Given the description of an element on the screen output the (x, y) to click on. 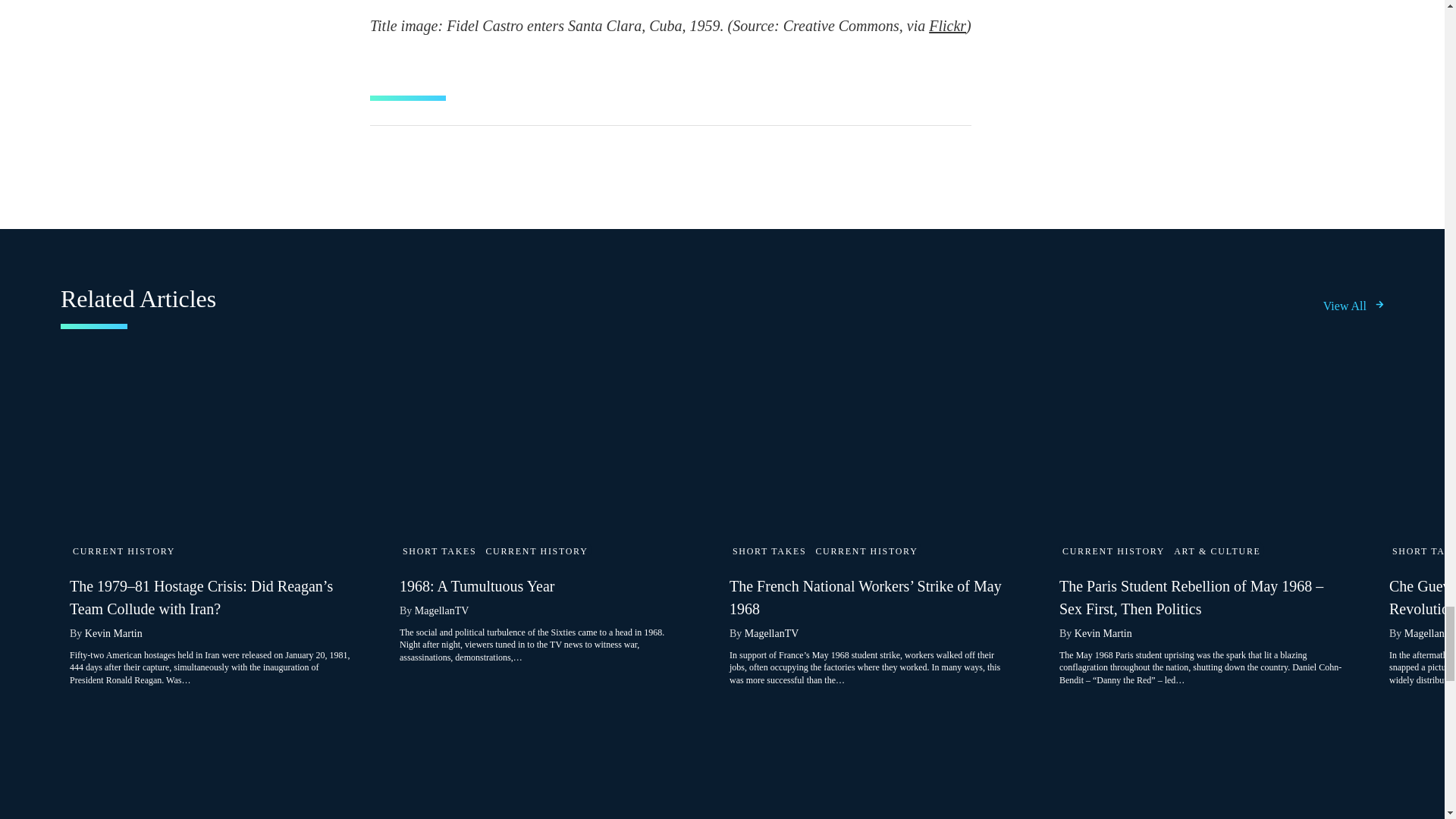
SHORT TAKES (769, 551)
SHORT TAKES (439, 551)
CURRENT HISTORY (123, 551)
Flickr (947, 25)
CURRENT HISTORY (866, 551)
View All (1353, 306)
CURRENT HISTORY (536, 551)
